Given the description of an element on the screen output the (x, y) to click on. 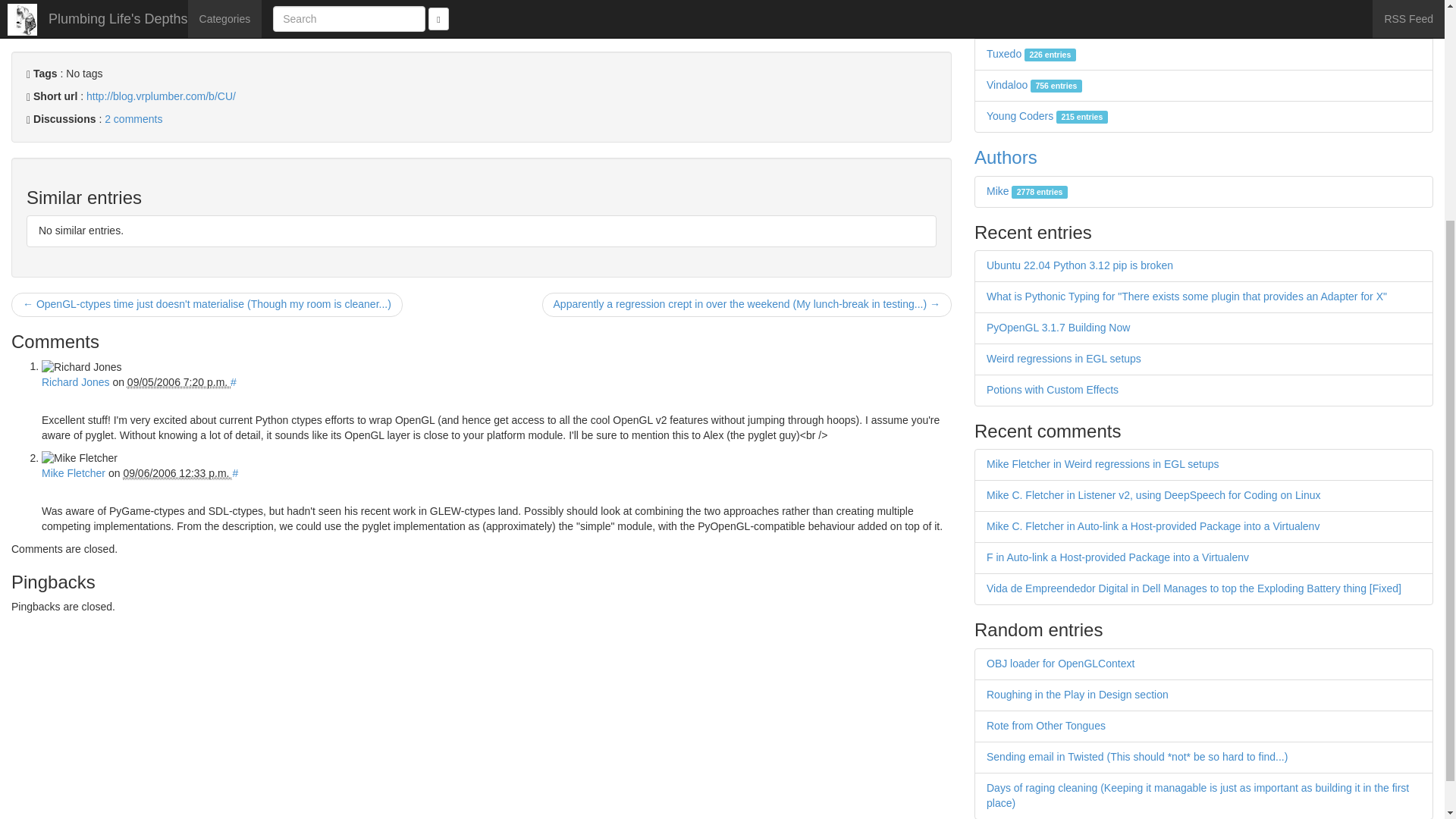
PyOpenGL 3.1.7 Building Now (1058, 327)
Potions with Custom Effects (1052, 389)
Weird regressions in EGL setups (1064, 358)
Ubuntu 22.04 Python 3.12 pip is broken (1080, 265)
2 comments (132, 119)
Authors (1005, 157)
Mike Fletcher (73, 472)
Young Coders 215 entries (1047, 115)
Tuxedo 226 entries (1031, 53)
Mike 2778 entries (1027, 191)
Richard Jones (76, 381)
Snaking 1492 entries (1035, 22)
Vindaloo 756 entries (1034, 84)
